Given the description of an element on the screen output the (x, y) to click on. 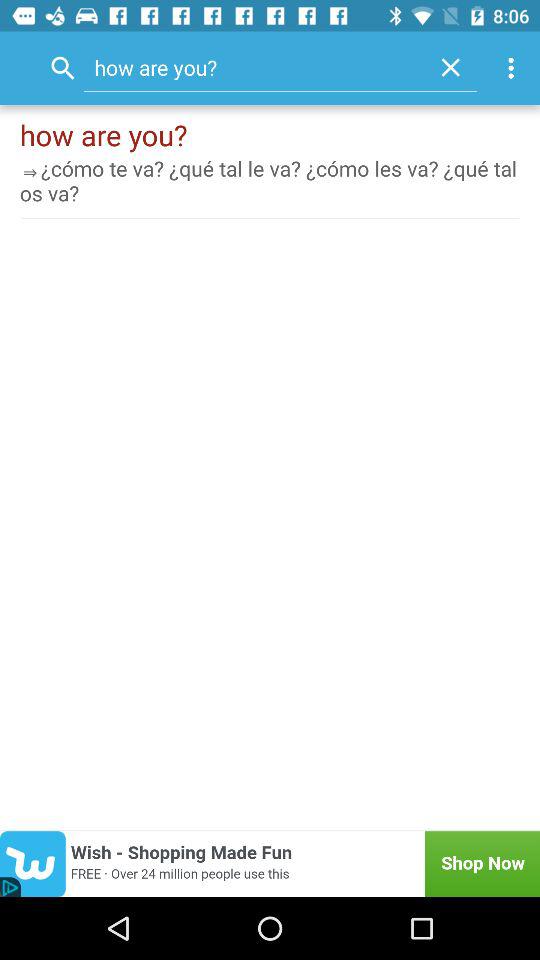
open advertisement (270, 864)
